Given the description of an element on the screen output the (x, y) to click on. 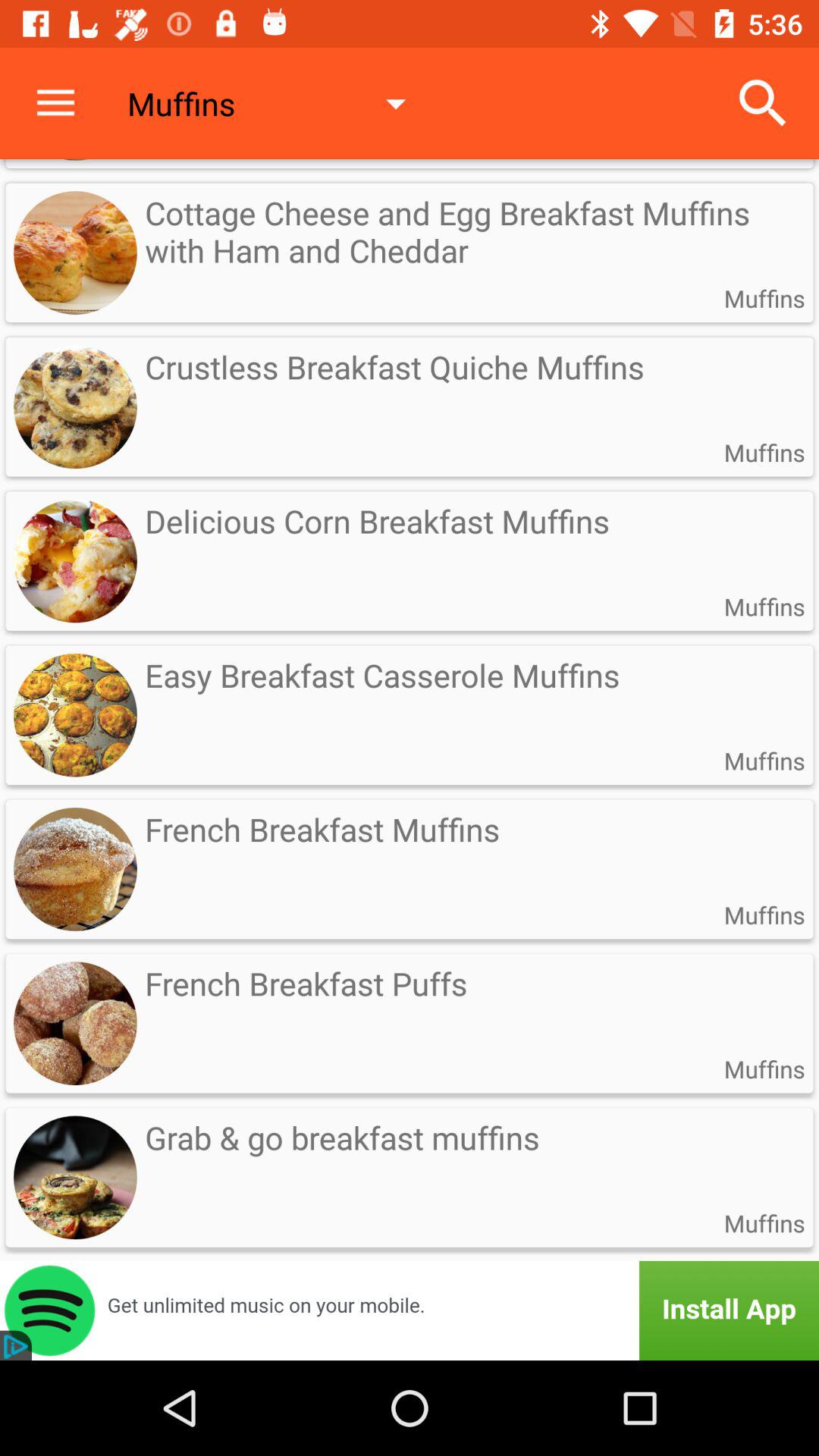
advertisement page (409, 1310)
